Given the description of an element on the screen output the (x, y) to click on. 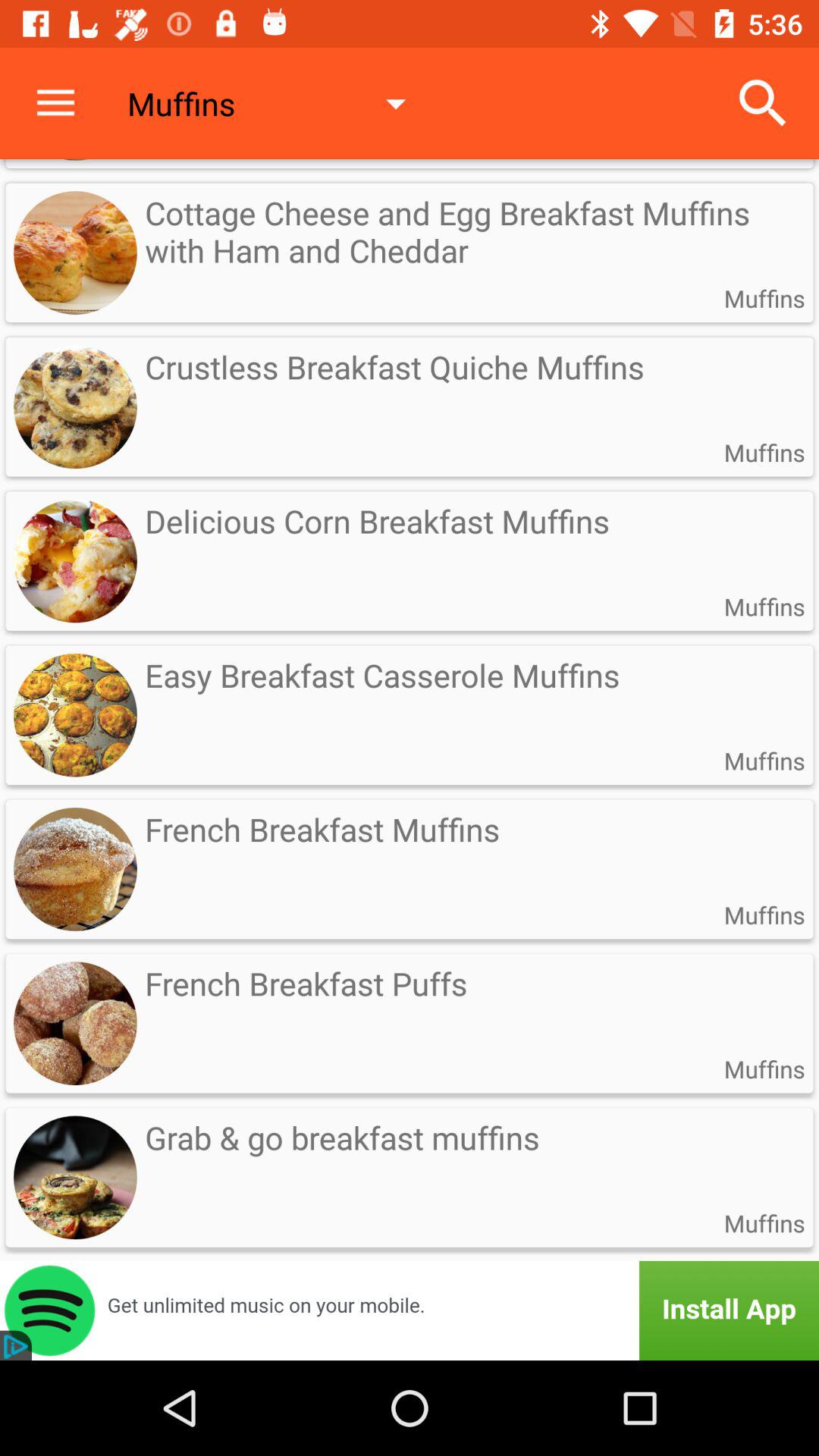
advertisement page (409, 1310)
